Given the description of an element on the screen output the (x, y) to click on. 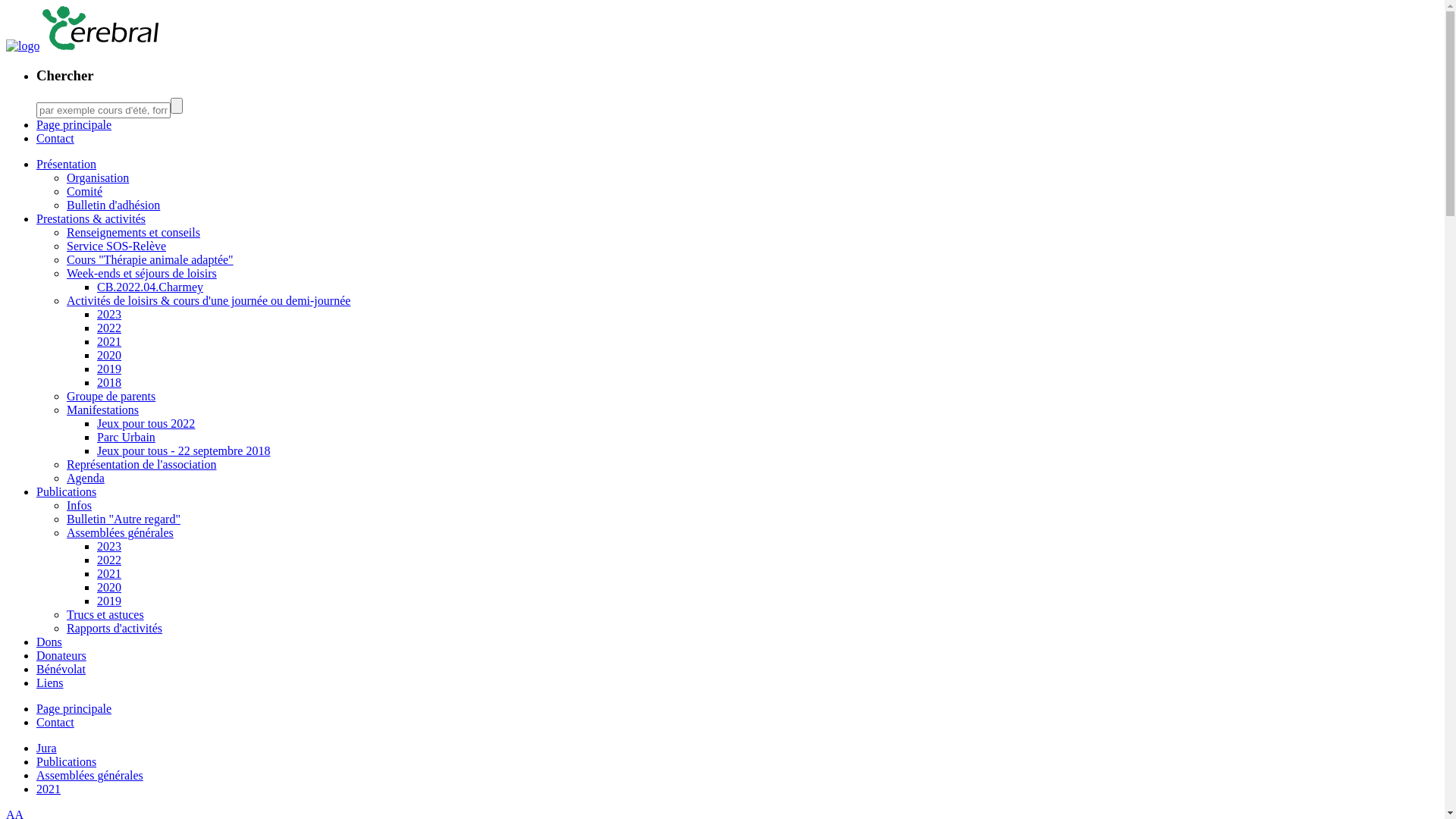
Page principale Element type: text (73, 708)
2018 Element type: text (109, 382)
2020 Element type: text (109, 354)
Contact Element type: text (55, 137)
Page principale Element type: text (73, 124)
Organisation Element type: text (97, 177)
Trucs et astuces Element type: text (105, 614)
Jeux pour tous 2022 Element type: text (145, 423)
2022 Element type: text (109, 327)
Manifestations Element type: text (102, 409)
2019 Element type: text (109, 600)
2021 Element type: text (109, 573)
Infos Element type: text (78, 504)
Groupe de parents Element type: text (110, 395)
2019 Element type: text (109, 368)
Agenda Element type: text (85, 477)
Jeux pour tous - 22 septembre 2018 Element type: text (183, 450)
2020 Element type: text (109, 586)
2021 Element type: text (109, 341)
Publications Element type: text (66, 761)
Liens Element type: text (49, 682)
Renseignements et conseils Element type: text (133, 231)
2022 Element type: text (109, 559)
Dons Element type: text (49, 641)
Jura Element type: text (46, 747)
Donateurs Element type: text (61, 655)
2023 Element type: text (109, 545)
CB.2022.04.Charmey Element type: text (150, 286)
Bulletin "Autre regard" Element type: text (123, 518)
Parc Urbain Element type: text (126, 436)
2021 Element type: text (48, 788)
Publications Element type: text (66, 491)
Contact Element type: text (55, 721)
2023 Element type: text (109, 313)
